Given the description of an element on the screen output the (x, y) to click on. 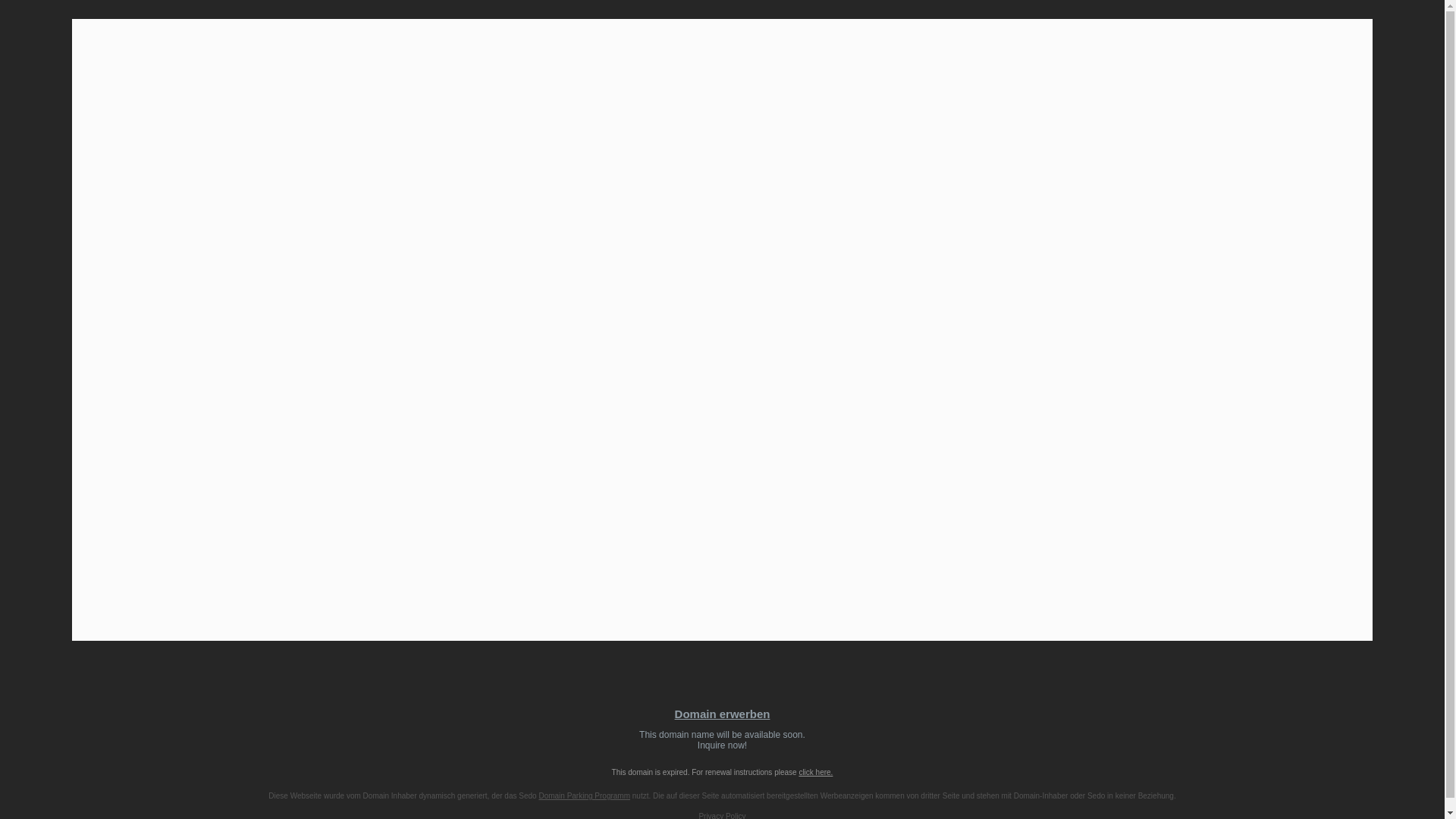
click here. (722, 740)
Domain Parking Programm (814, 772)
Domain erwerben (584, 795)
